Given the description of an element on the screen output the (x, y) to click on. 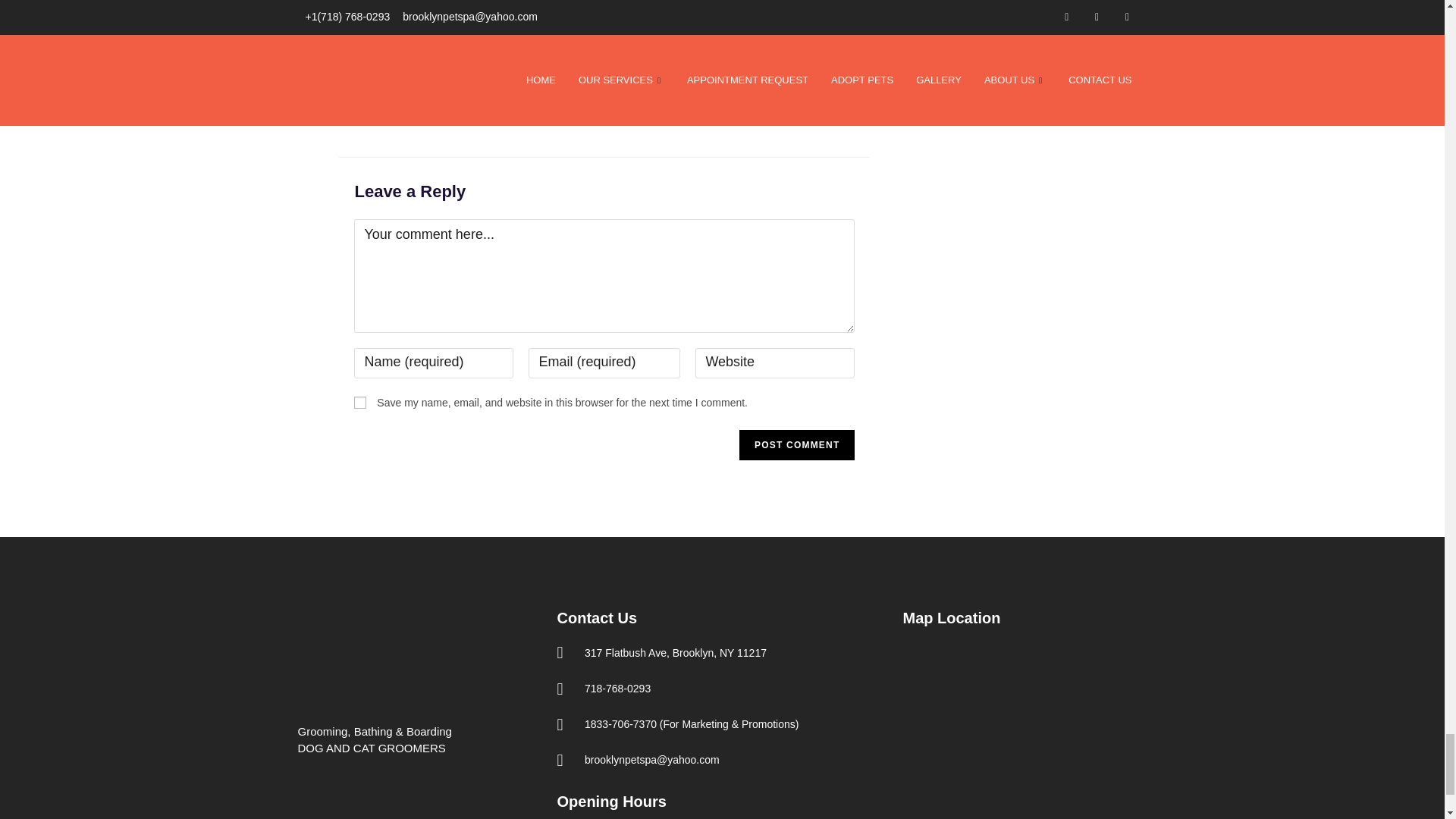
yes (359, 401)
Post Comment (796, 444)
